Given the description of an element on the screen output the (x, y) to click on. 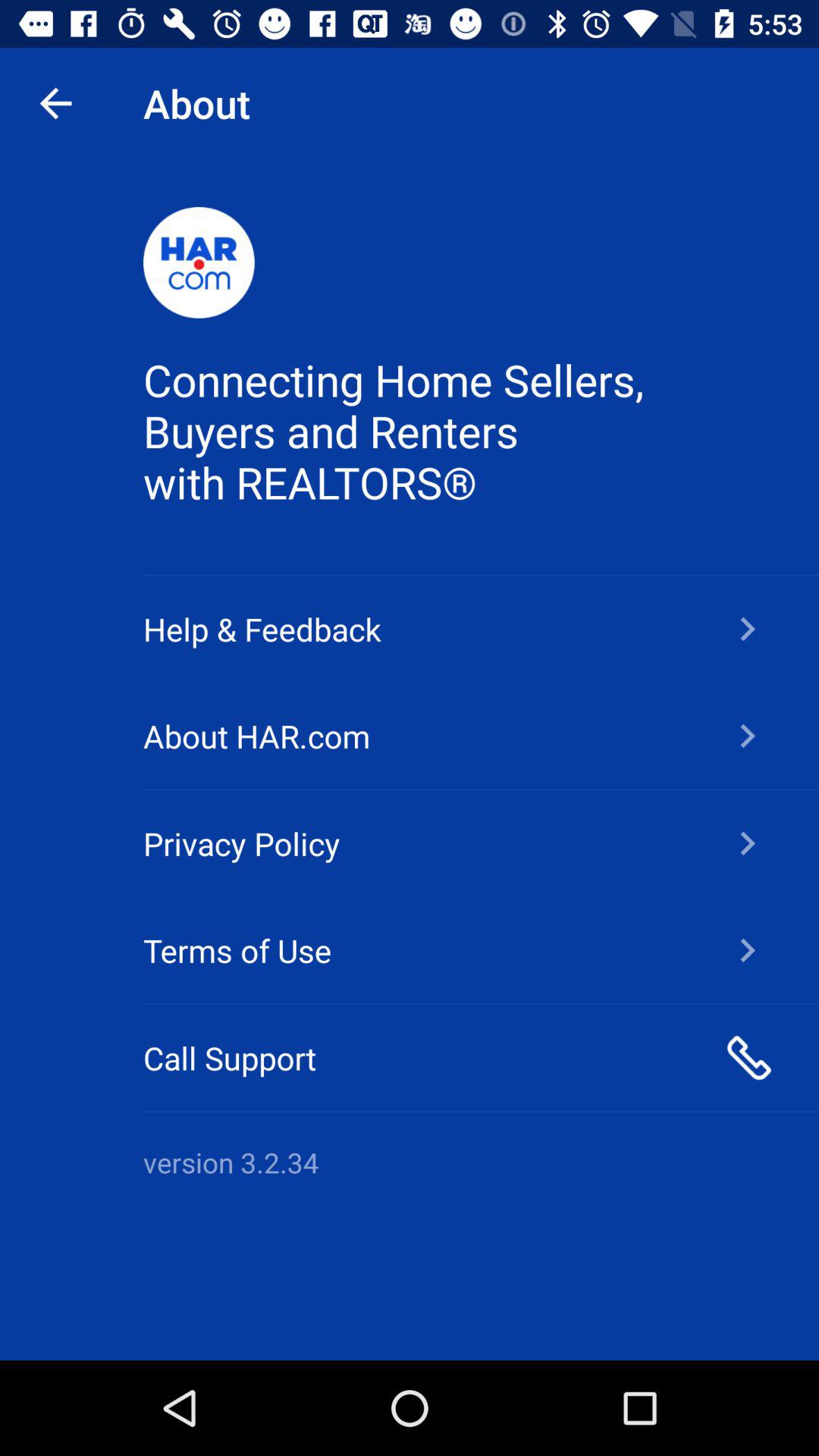
turn off app next to the about (55, 103)
